Given the description of an element on the screen output the (x, y) to click on. 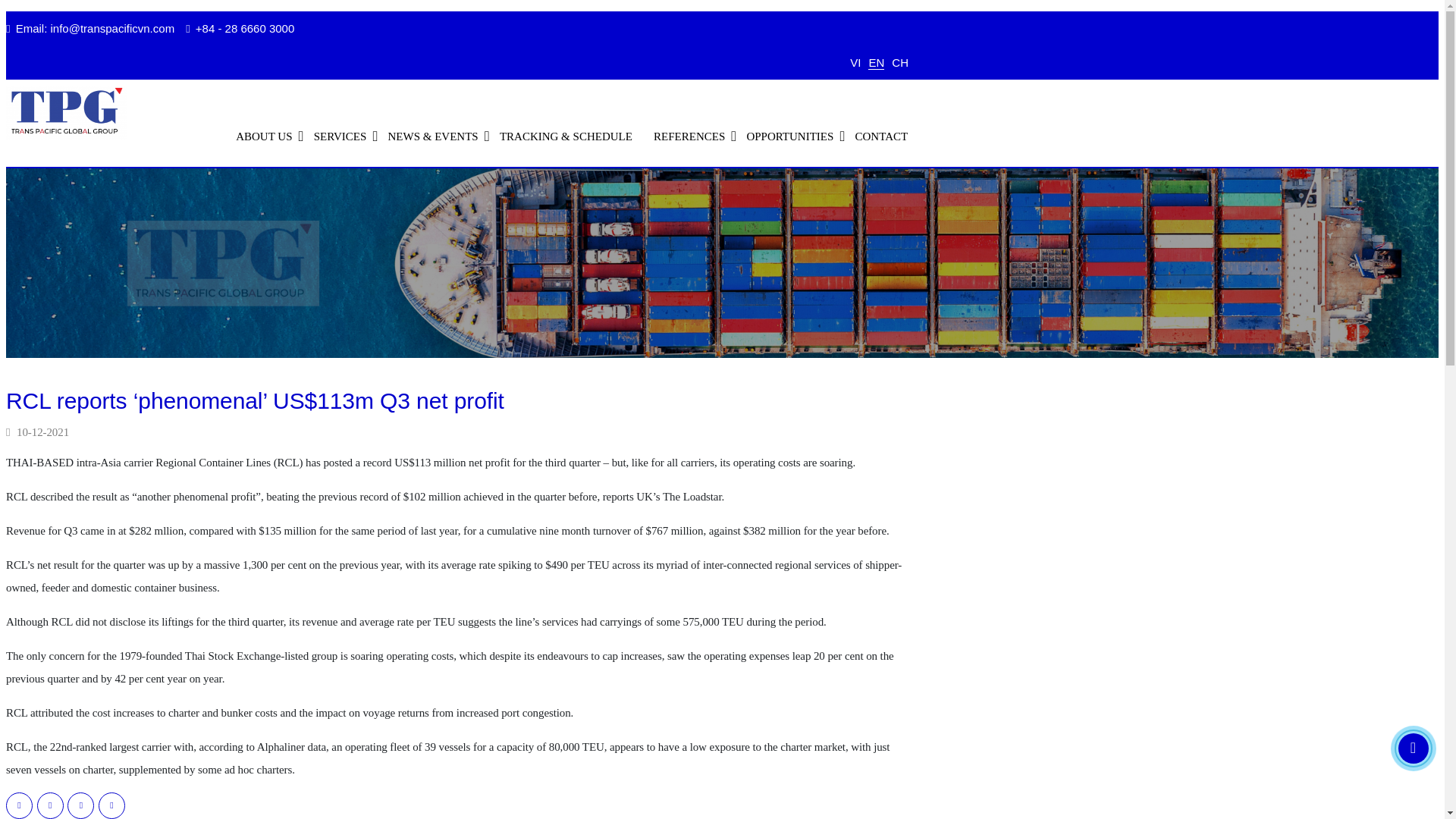
EN (875, 62)
OPPORTUNITIES (788, 136)
CH (899, 62)
REFERENCES (689, 136)
Email (95, 28)
ABOUT US (263, 136)
